Given the description of an element on the screen output the (x, y) to click on. 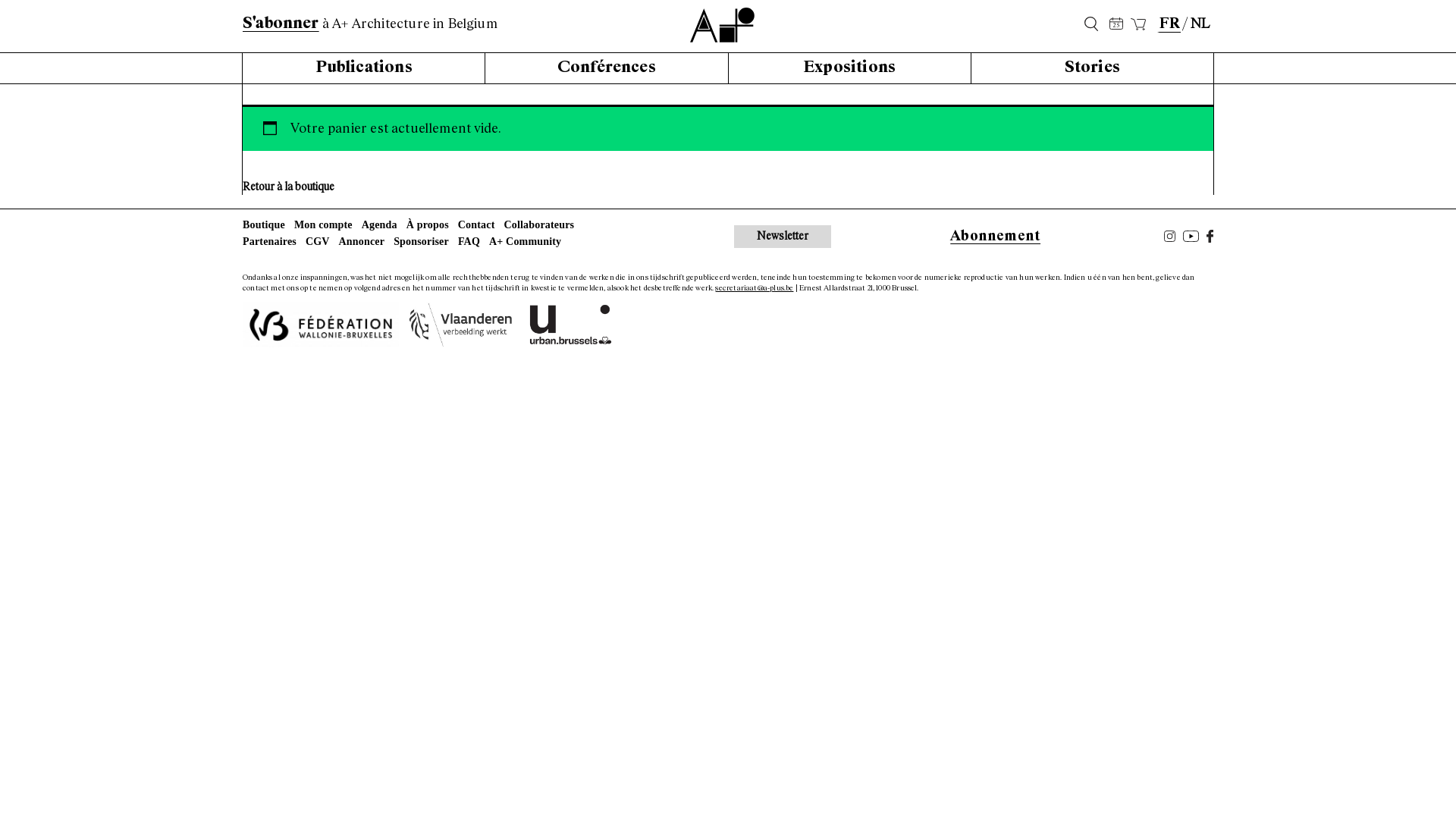
Expositions Element type: text (848, 67)
Sponsoriser Element type: text (420, 241)
FR Element type: text (1168, 24)
Publications Element type: text (363, 67)
urban.brussels Element type: hover (570, 325)
Abonnement Element type: text (995, 236)
Partenaires Element type: text (269, 241)
25 Element type: text (1116, 23)
Stories Element type: text (1092, 67)
A+ Community Element type: text (525, 241)
Agenda Element type: text (379, 224)
Facebook Element type: hover (1209, 235)
Panier Element type: hover (1137, 24)
Vlaamse Overheid Element type: hover (460, 325)
S'abonner Element type: text (280, 23)
Annoncer Element type: text (361, 241)
Mon compte Element type: text (323, 224)
Instagram Element type: hover (1169, 235)
A+ Element type: hover (727, 24)
Boutique Element type: text (263, 224)
Youtube Element type: hover (1190, 235)
secretariaat@a-plus.be Element type: text (754, 287)
NL Element type: text (1198, 23)
Collaborateurs Element type: text (538, 224)
FAQ Element type: text (469, 241)
Contact Element type: text (476, 224)
Newsletter Element type: text (782, 236)
CGV Element type: text (317, 241)
